Given the description of an element on the screen output the (x, y) to click on. 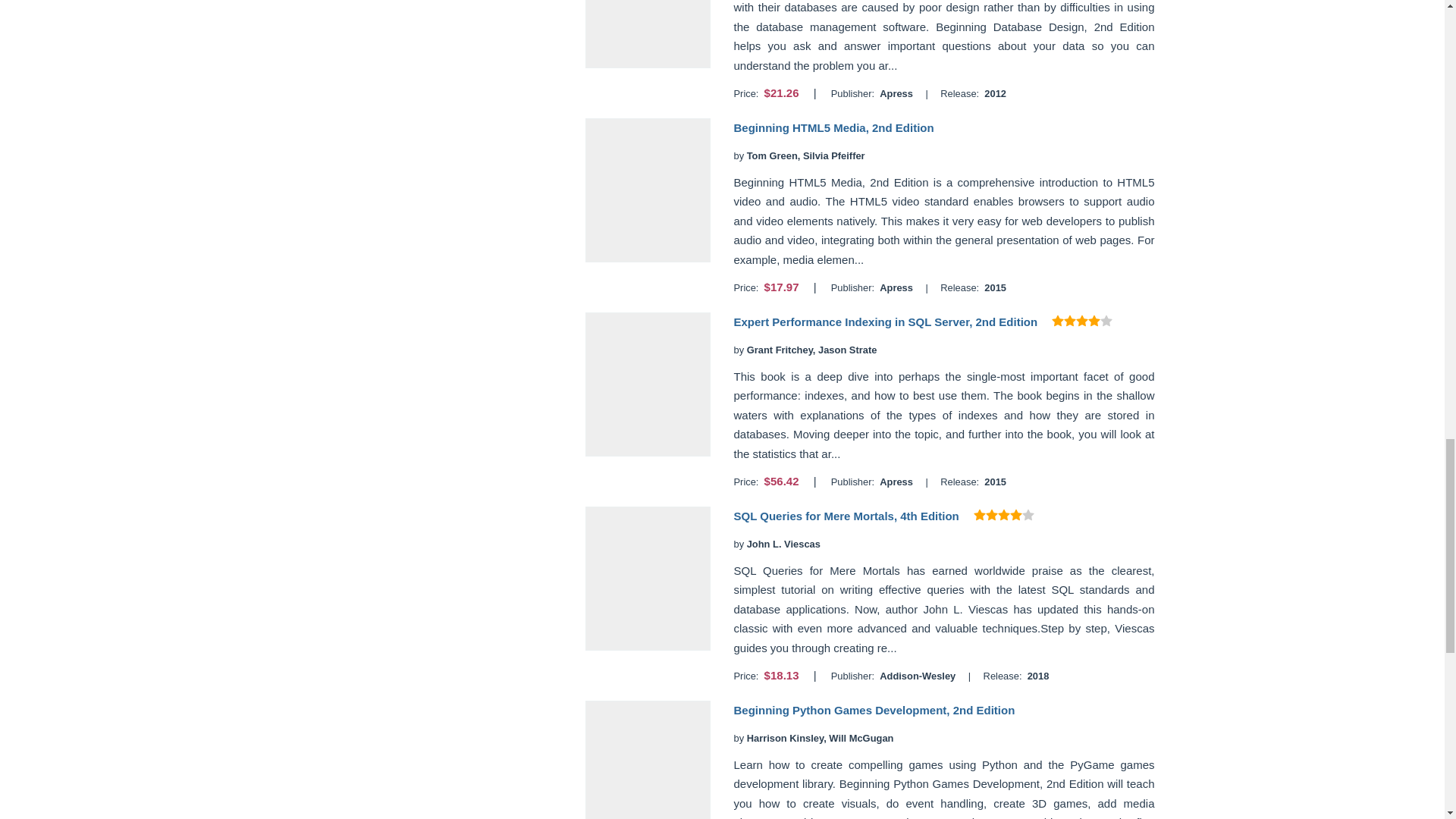
Beginning HTML5 Media, 2nd Edition (833, 127)
Expert Performance Indexing in SQL Server, 2nd Edition (884, 321)
SQL Queries for Mere Mortals, 4th Edition (845, 515)
